Given the description of an element on the screen output the (x, y) to click on. 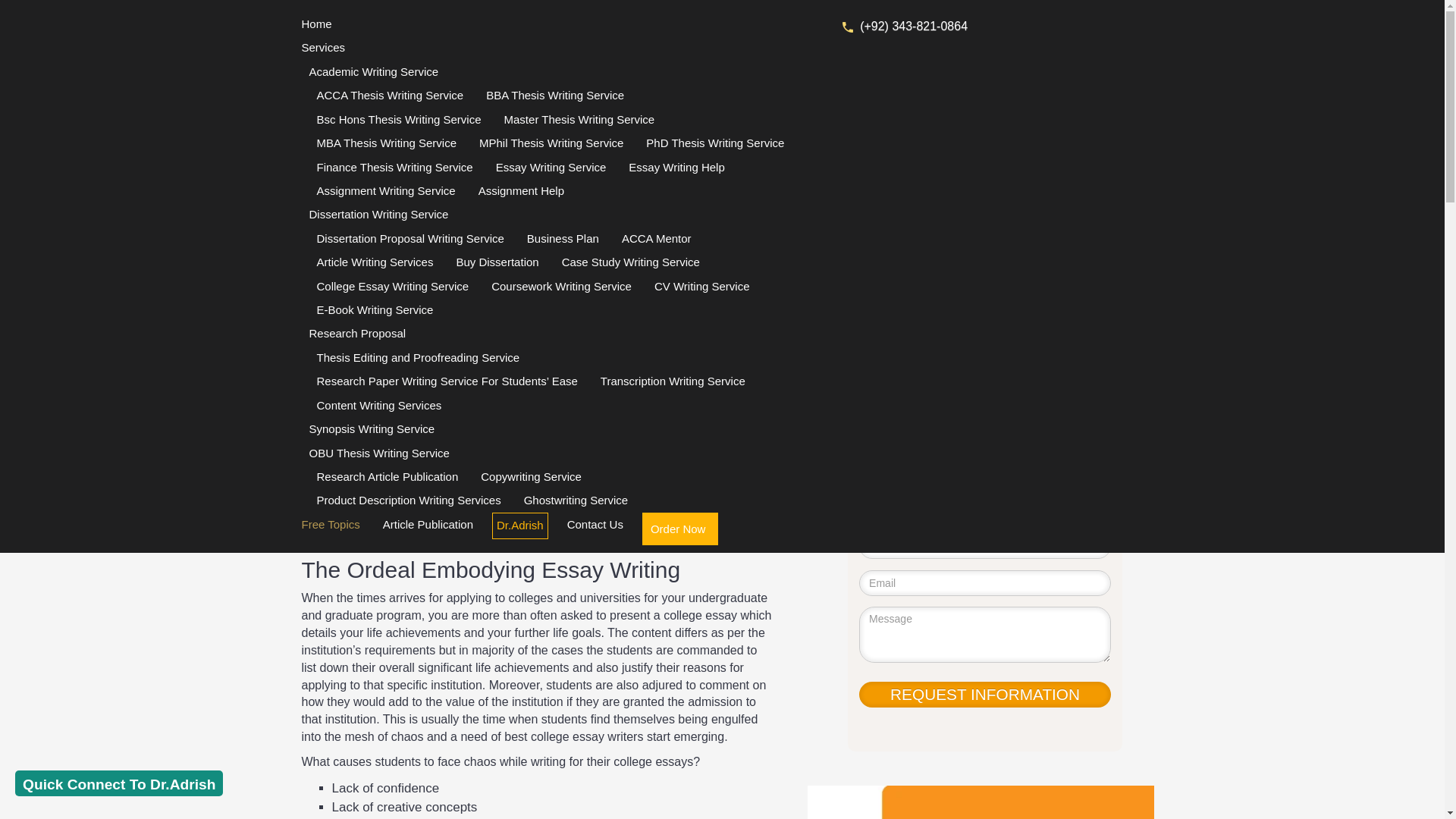
College Essay Writing Service (392, 286)
E-Book Writing Service (374, 309)
Research Article Publication (387, 476)
MPhil Thesis Writing Service (551, 142)
Thesis Editing and Proofreading Service (417, 357)
Master Thesis Writing Service (579, 119)
REQUEST INFORMATION (984, 694)
Dissertation Writing Service (551, 214)
ACCA Thesis Writing Service (390, 95)
Article Writing Services (374, 261)
